Given the description of an element on the screen output the (x, y) to click on. 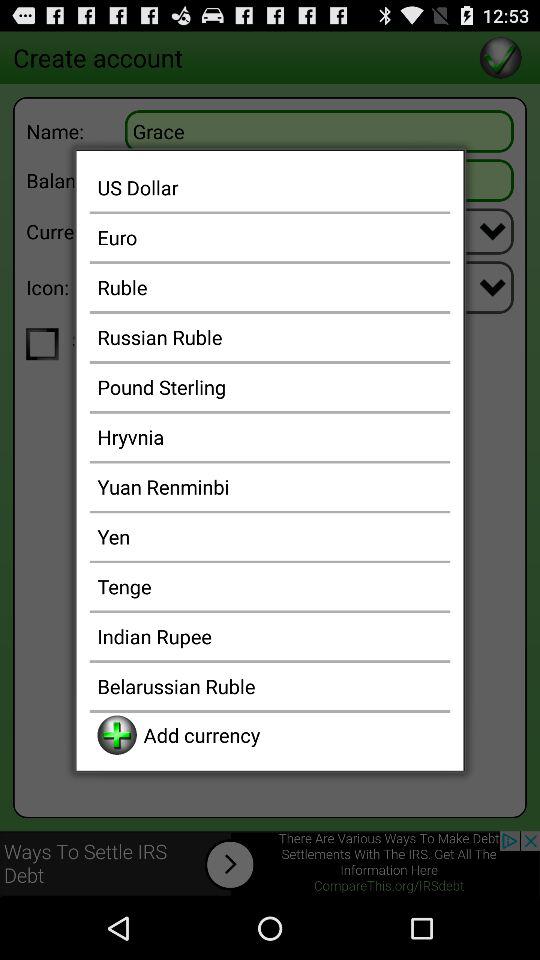
launch the icon below the tenge app (269, 636)
